Given the description of an element on the screen output the (x, y) to click on. 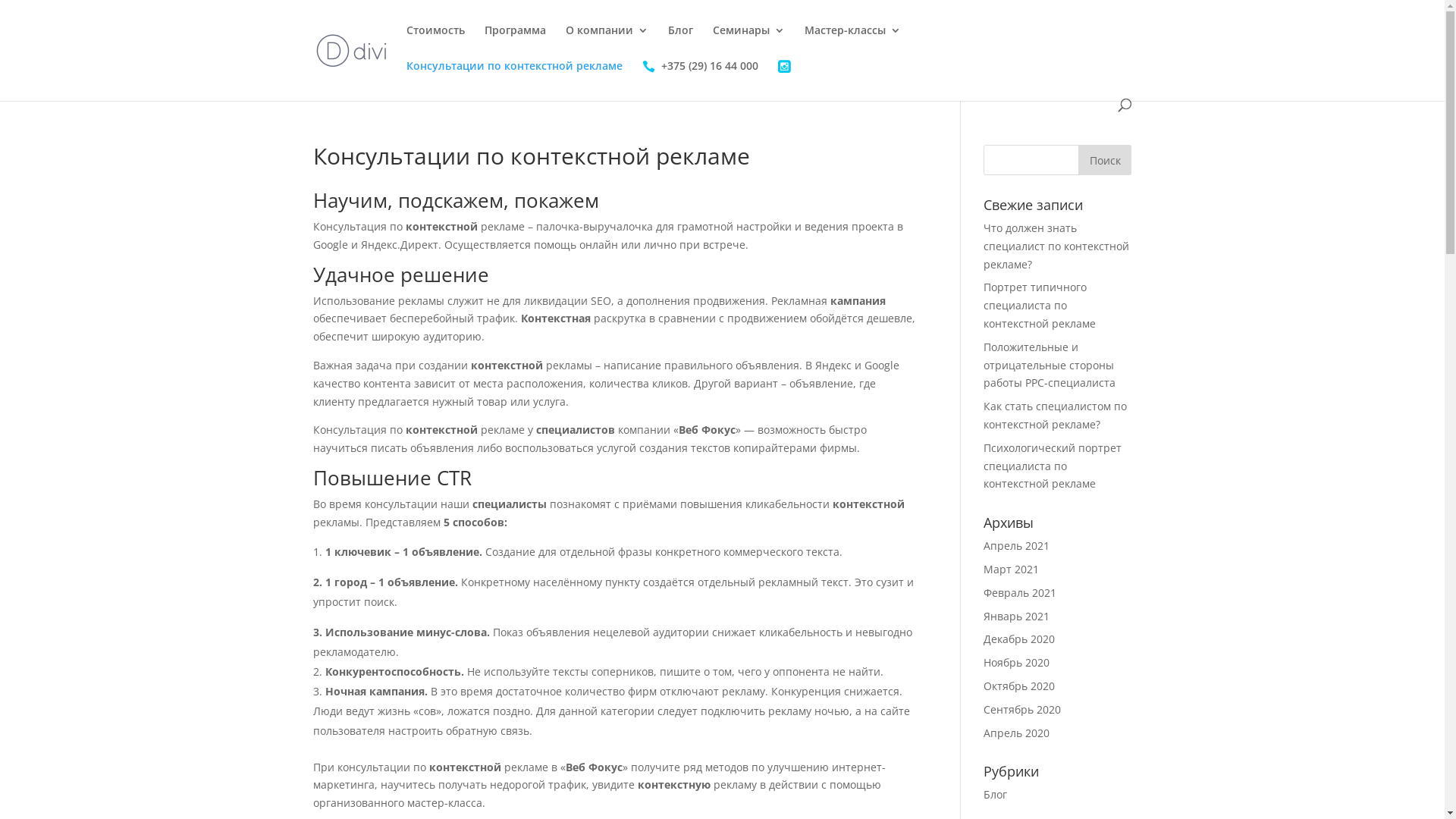
+375 (29) 16 44 000 Element type: text (699, 79)
